Given the description of an element on the screen output the (x, y) to click on. 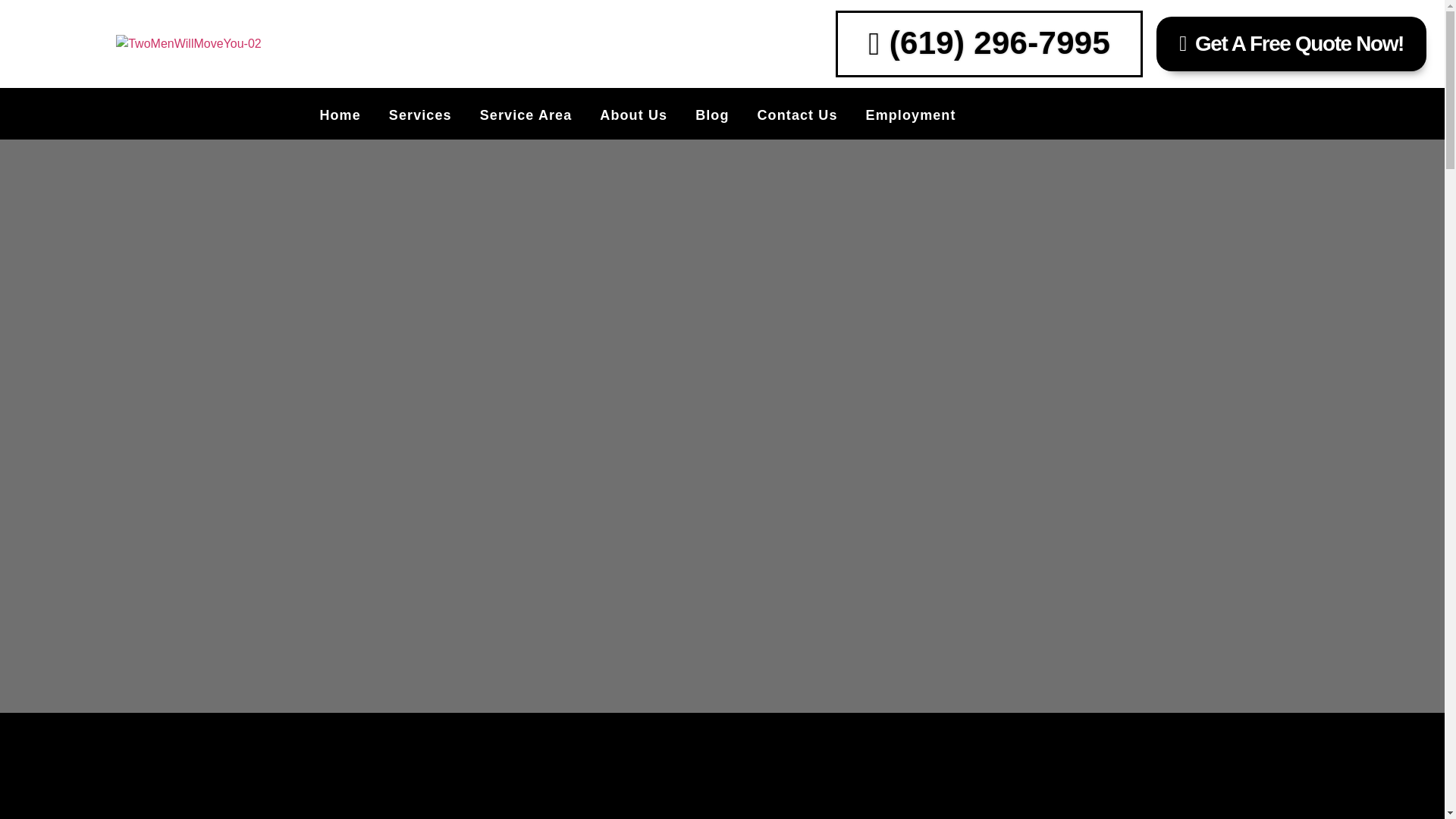
Home (338, 114)
Employment (911, 114)
Services (419, 114)
Service Area (526, 114)
Blog (712, 114)
About Us (632, 114)
Contact Us (797, 114)
TwoMenWillMoveYou-02 (188, 44)
Get A Free Quote Now! (1291, 43)
